Given the description of an element on the screen output the (x, y) to click on. 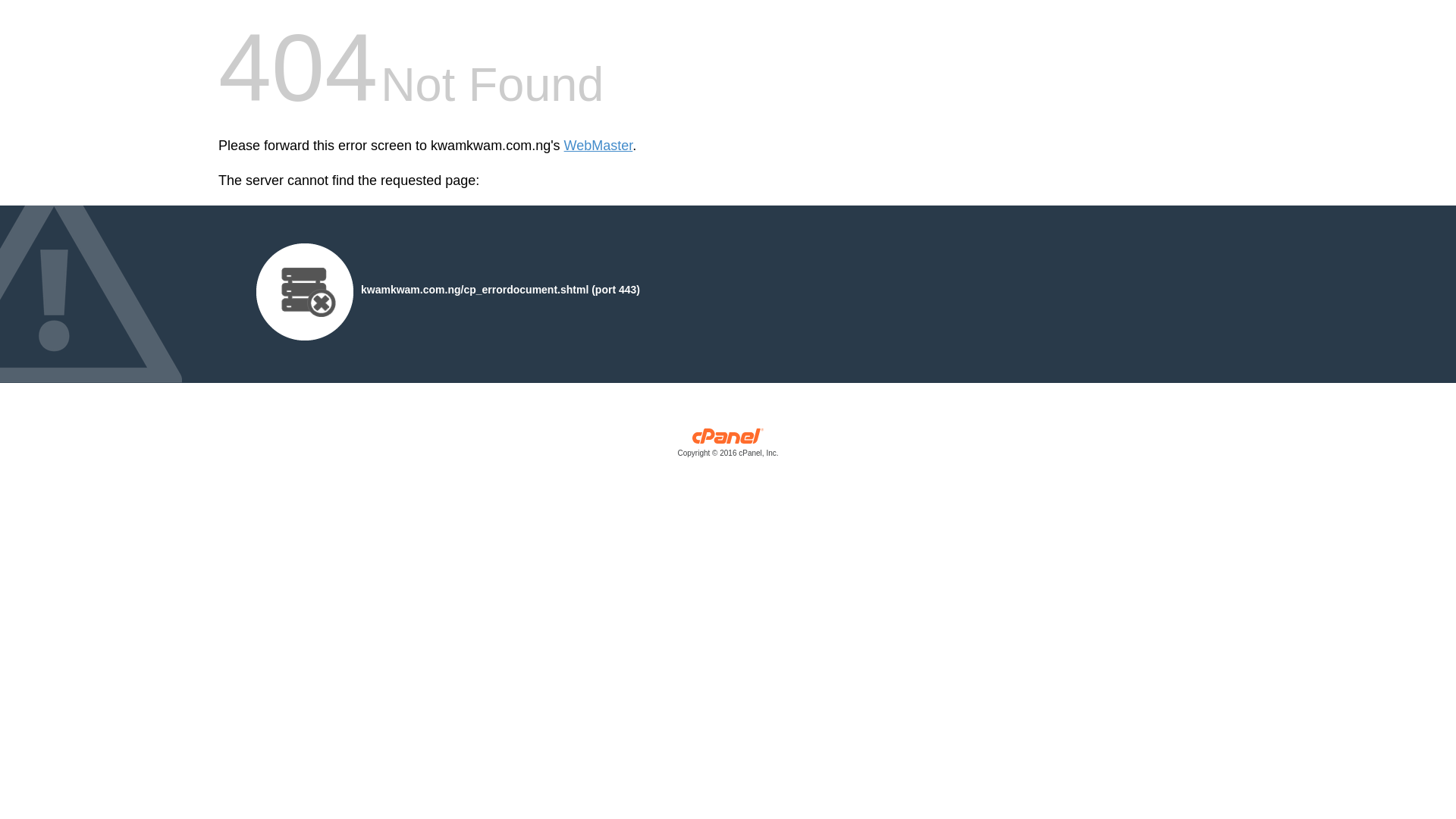
WebMaster (598, 145)
cPanel, Inc. (727, 446)
